Given the description of an element on the screen output the (x, y) to click on. 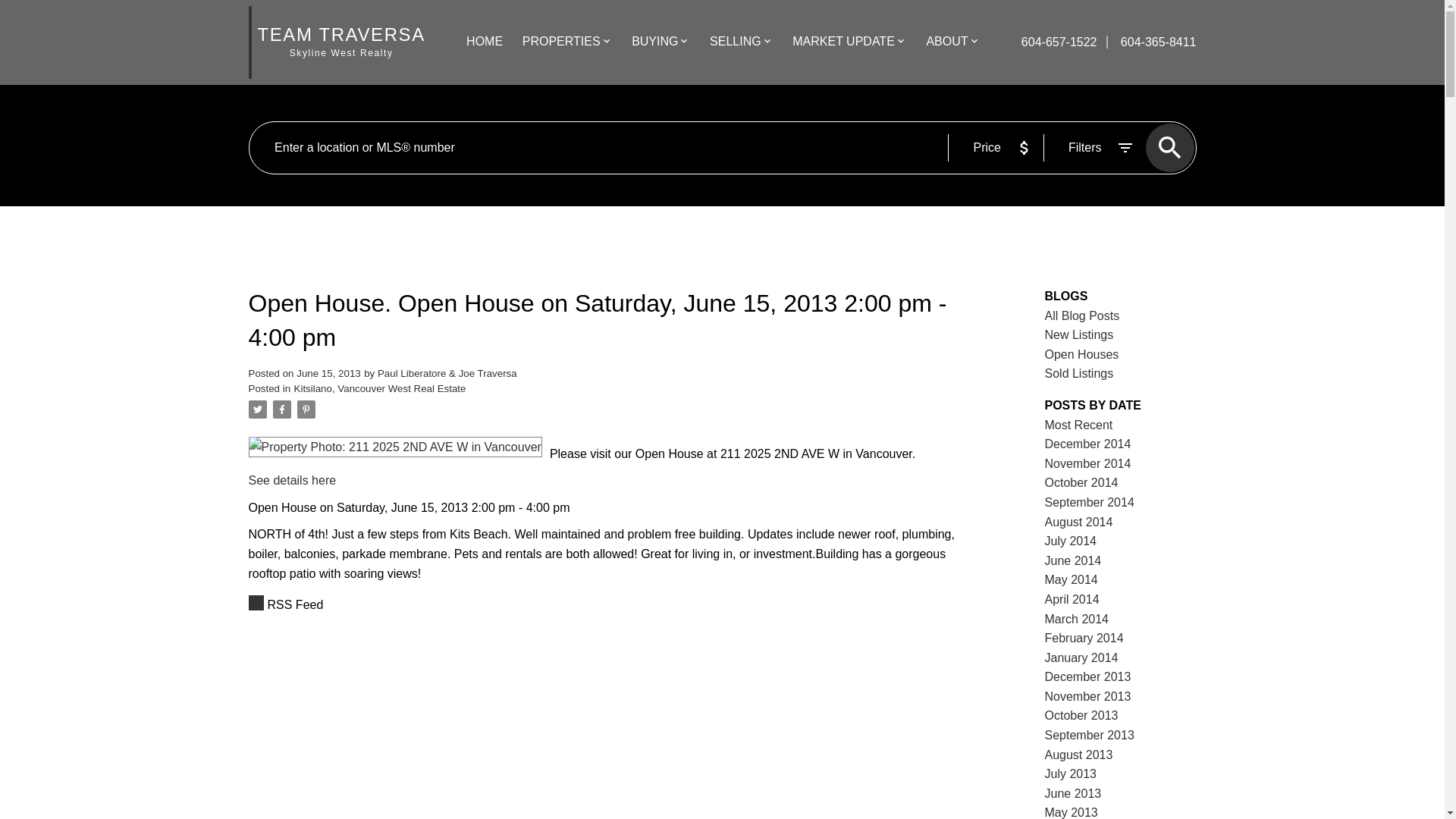
SELLING (735, 42)
HOME (483, 42)
PROPERTIES (560, 42)
  604-365-8411 (1151, 42)
ABOUT (947, 42)
BUYING (654, 42)
604-657-1522 (1061, 42)
